Given the description of an element on the screen output the (x, y) to click on. 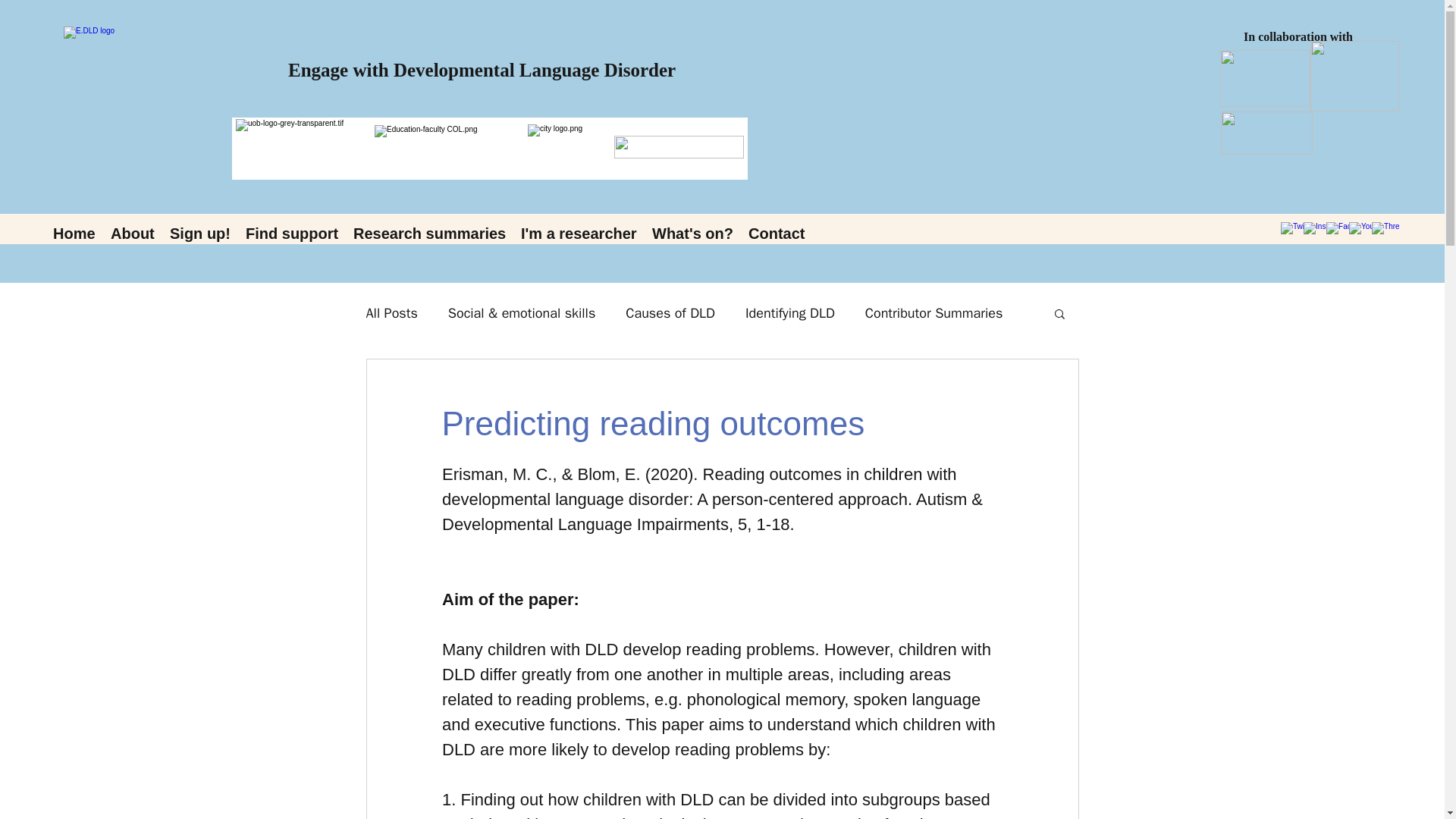
Curtin Logo.jpg (679, 146)
Research summaries (429, 232)
About (132, 232)
Contributor Summaries (933, 312)
the DLD project.png (1354, 75)
I'm a researcher (579, 232)
DLD and Me Logo.jpg (1265, 78)
Home (74, 232)
Identifying DLD (789, 312)
What's on? (693, 232)
